Given the description of an element on the screen output the (x, y) to click on. 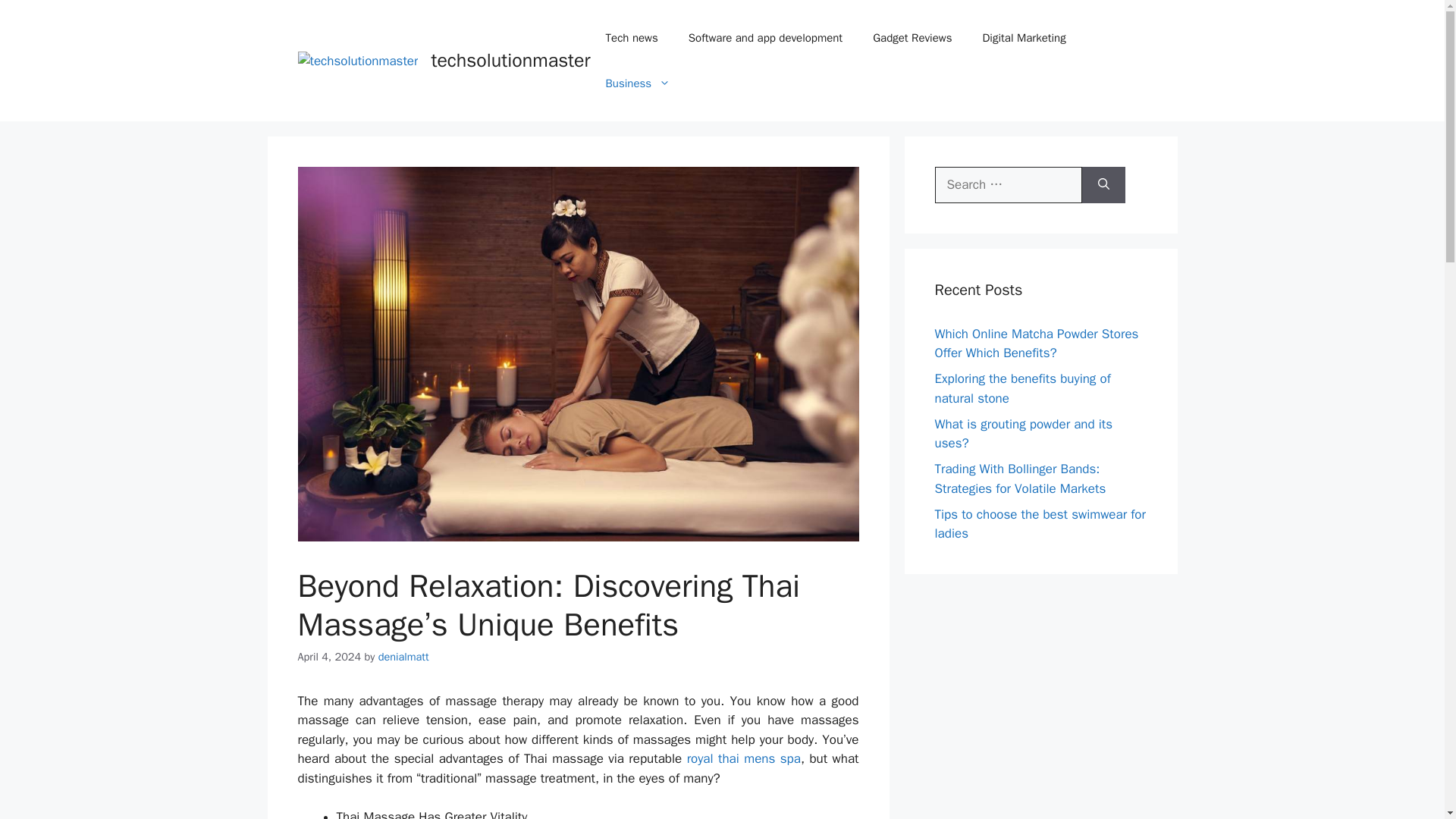
Digital Marketing (1023, 37)
View all posts by denialmatt (403, 656)
royal thai mens spa (743, 758)
Search for: (1007, 185)
Tips to choose the best swimwear for ladies (1039, 524)
Business (638, 83)
Which Online Matcha Powder Stores Offer Which Benefits? (1036, 343)
Gadget Reviews (911, 37)
Software and app development (764, 37)
Tech news (631, 37)
What is grouting powder and its uses? (1023, 433)
Exploring the benefits buying of natural stone (1021, 388)
techsolutionmaster (509, 60)
denialmatt (403, 656)
